Given the description of an element on the screen output the (x, y) to click on. 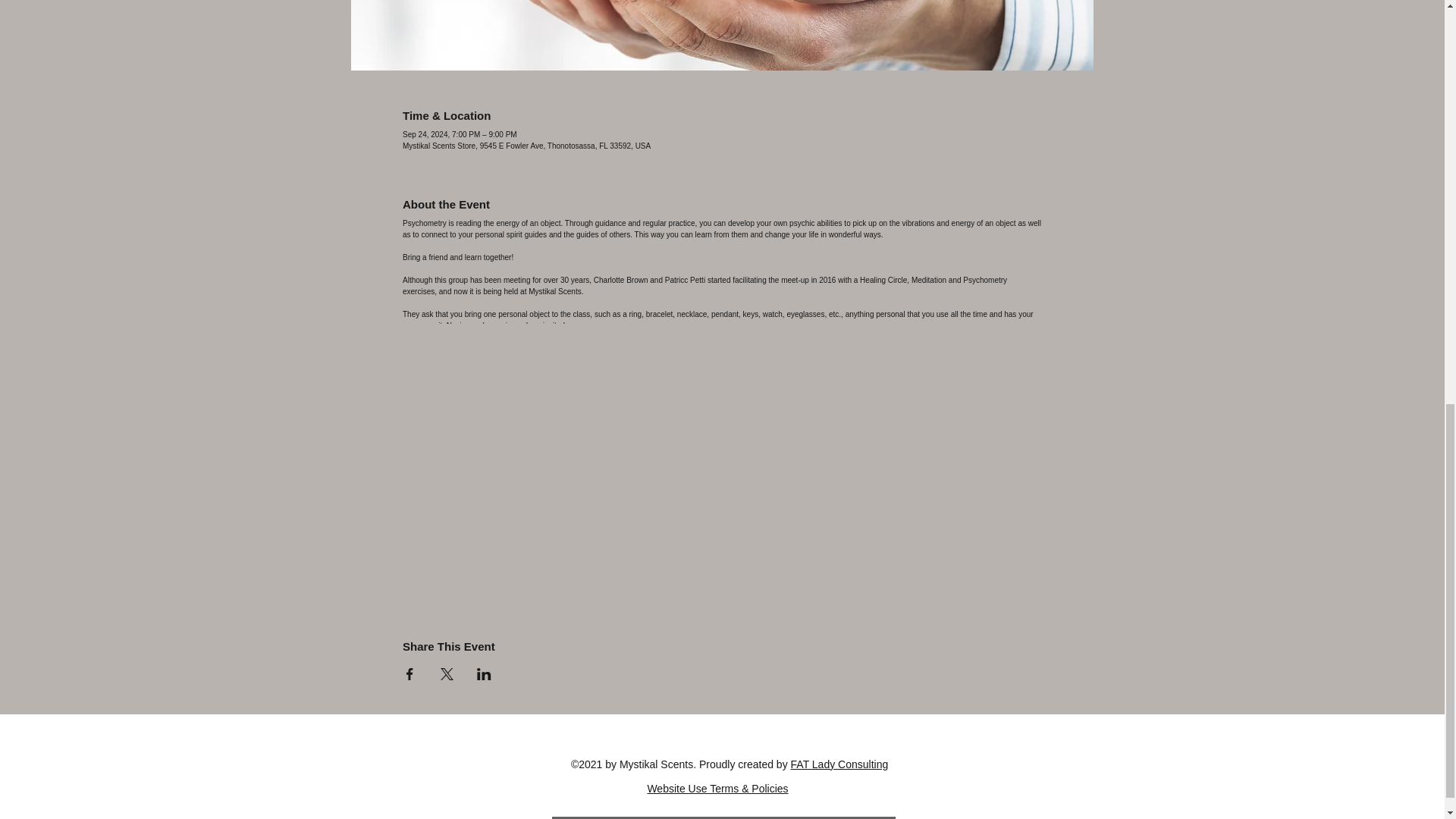
FAT Lady Consulting (839, 764)
